Given the description of an element on the screen output the (x, y) to click on. 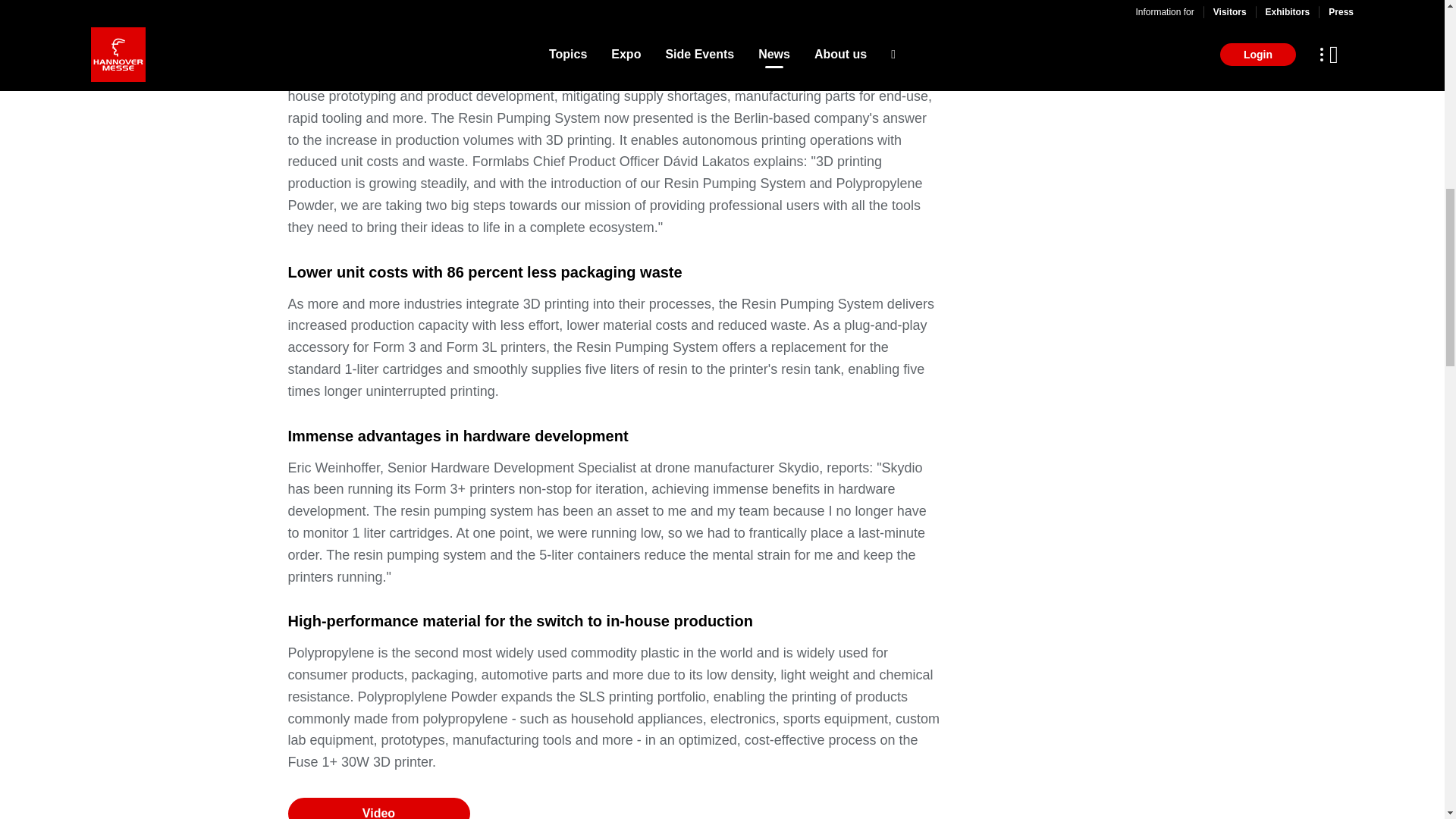
Video (379, 808)
